Given the description of an element on the screen output the (x, y) to click on. 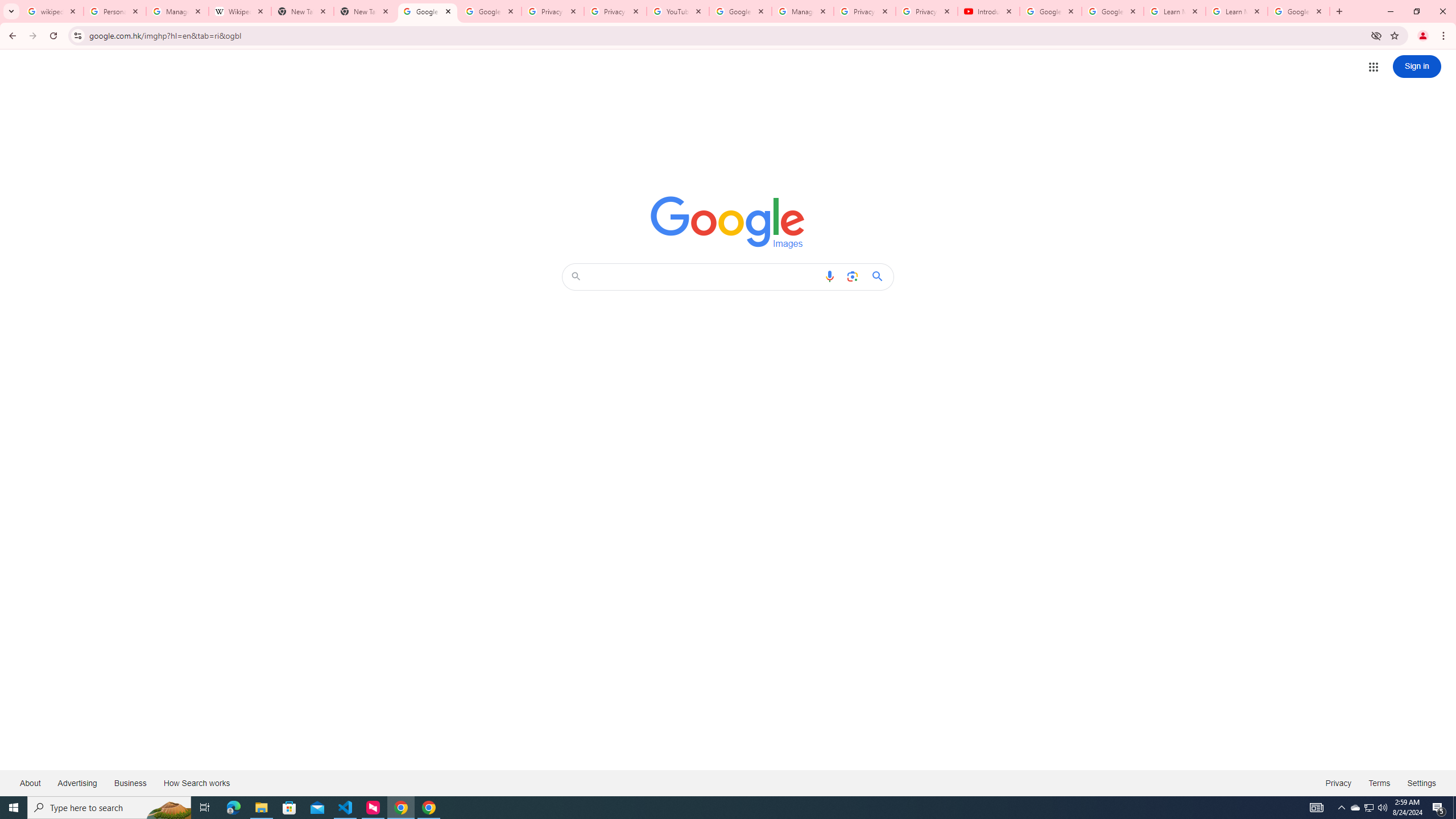
Address and search bar (726, 35)
Restore (1416, 11)
Back (10, 35)
Google Account Help (1050, 11)
View site information (77, 35)
Google Images (427, 11)
New Tab (365, 11)
New Tab (1338, 11)
Personalization & Google Search results - Google Search Help (114, 11)
Google Search (880, 276)
Search tabs (10, 11)
Close (1318, 11)
Search (703, 276)
